Given the description of an element on the screen output the (x, y) to click on. 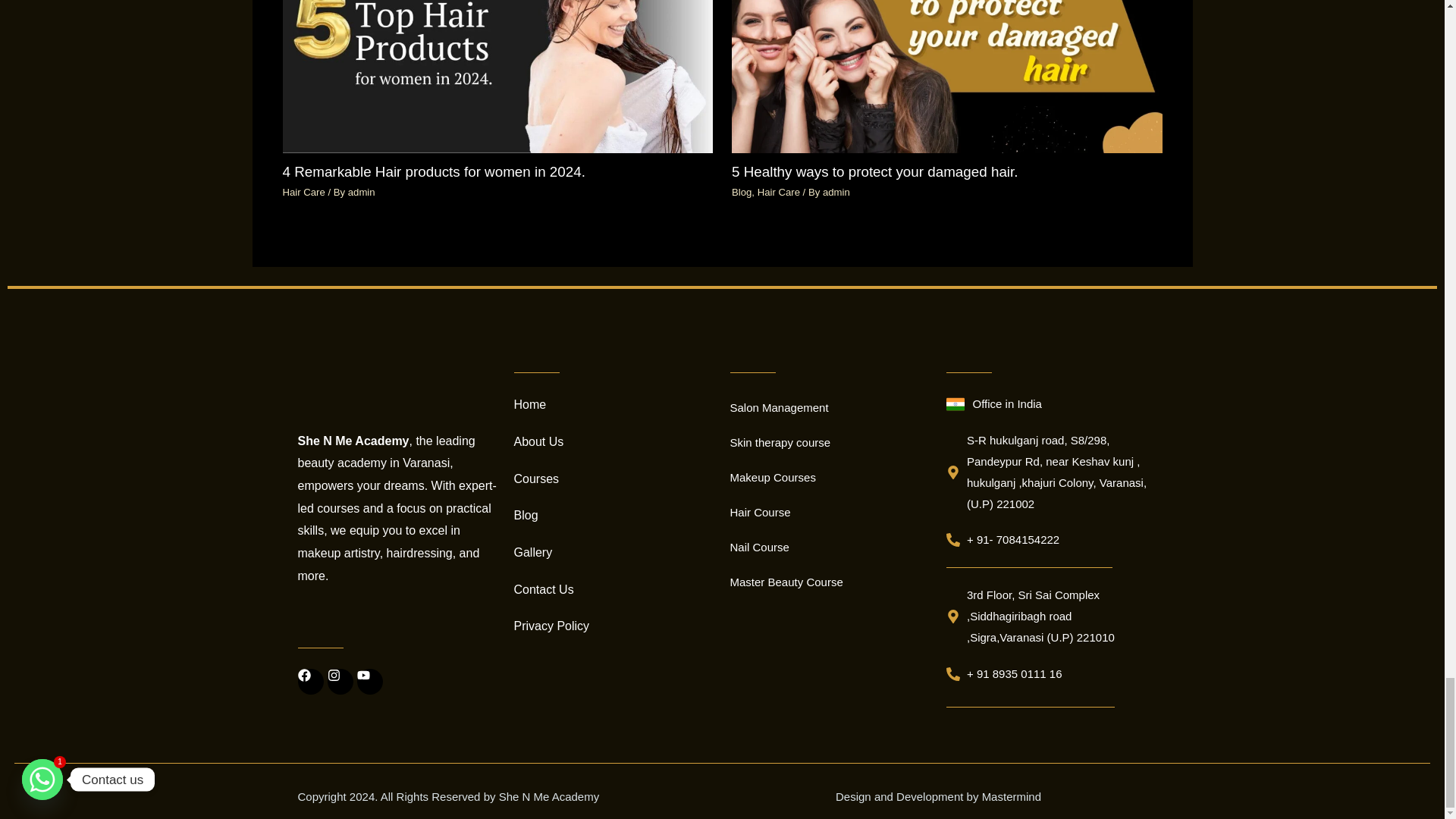
View all posts by admin (836, 192)
View all posts by admin (361, 192)
